Given the description of an element on the screen output the (x, y) to click on. 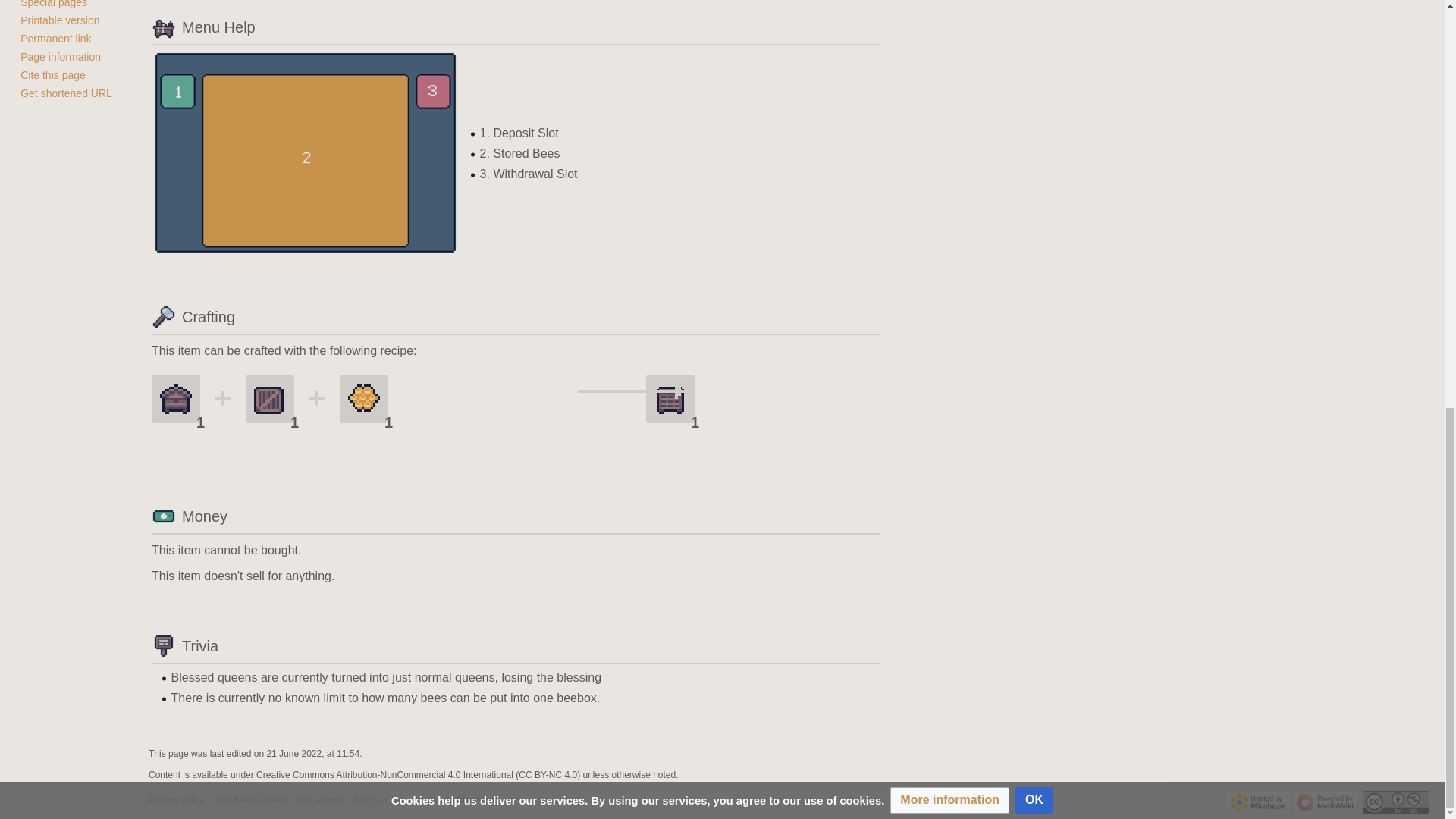
Honeycomb (363, 398)
Large Crate (270, 398)
Beebox (670, 398)
Basic Apiary (175, 398)
